Given the description of an element on the screen output the (x, y) to click on. 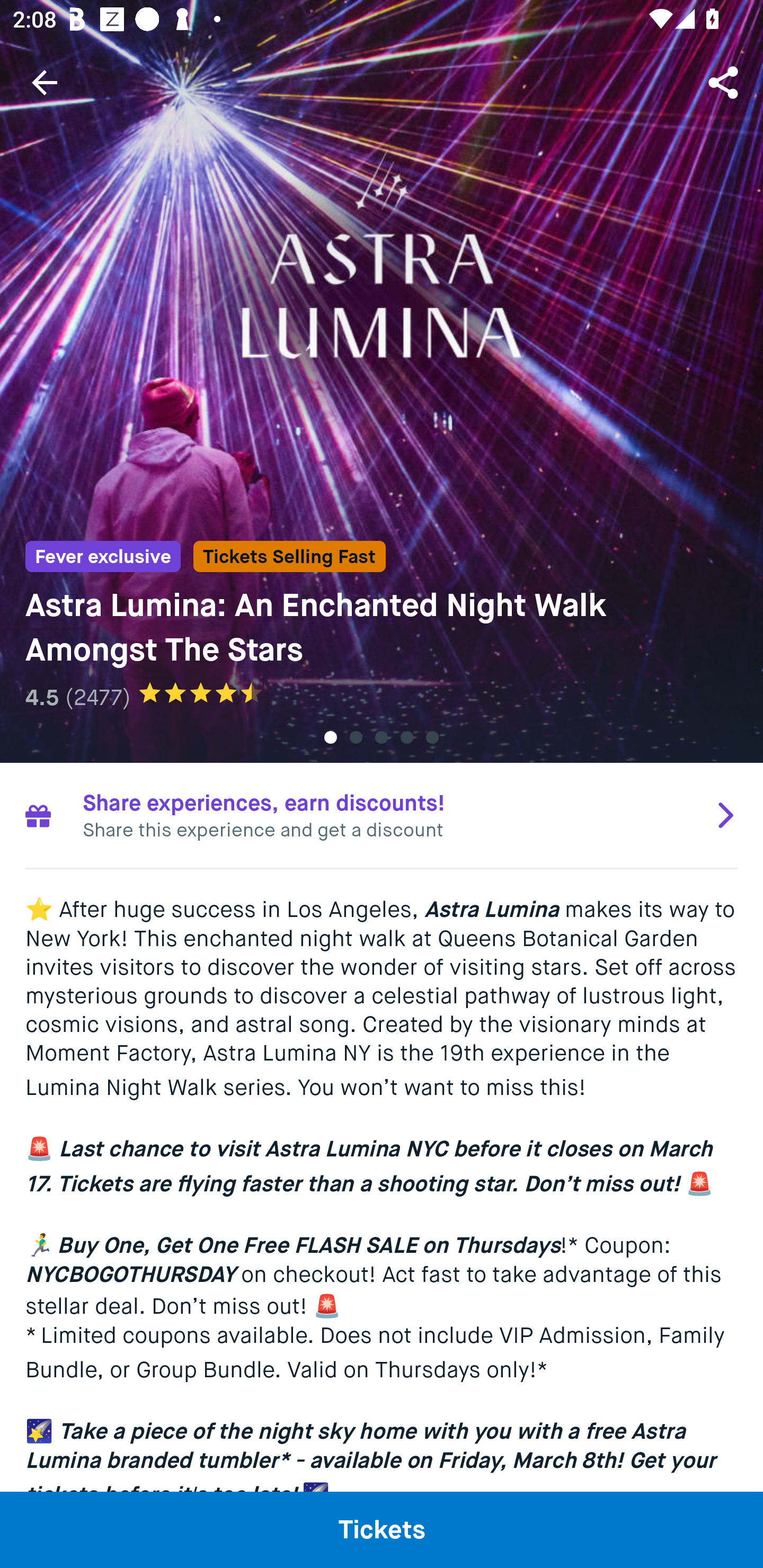
Navigate up (44, 82)
Share (724, 81)
(2477) (97, 697)
Tickets (381, 1529)
